Given the description of an element on the screen output the (x, y) to click on. 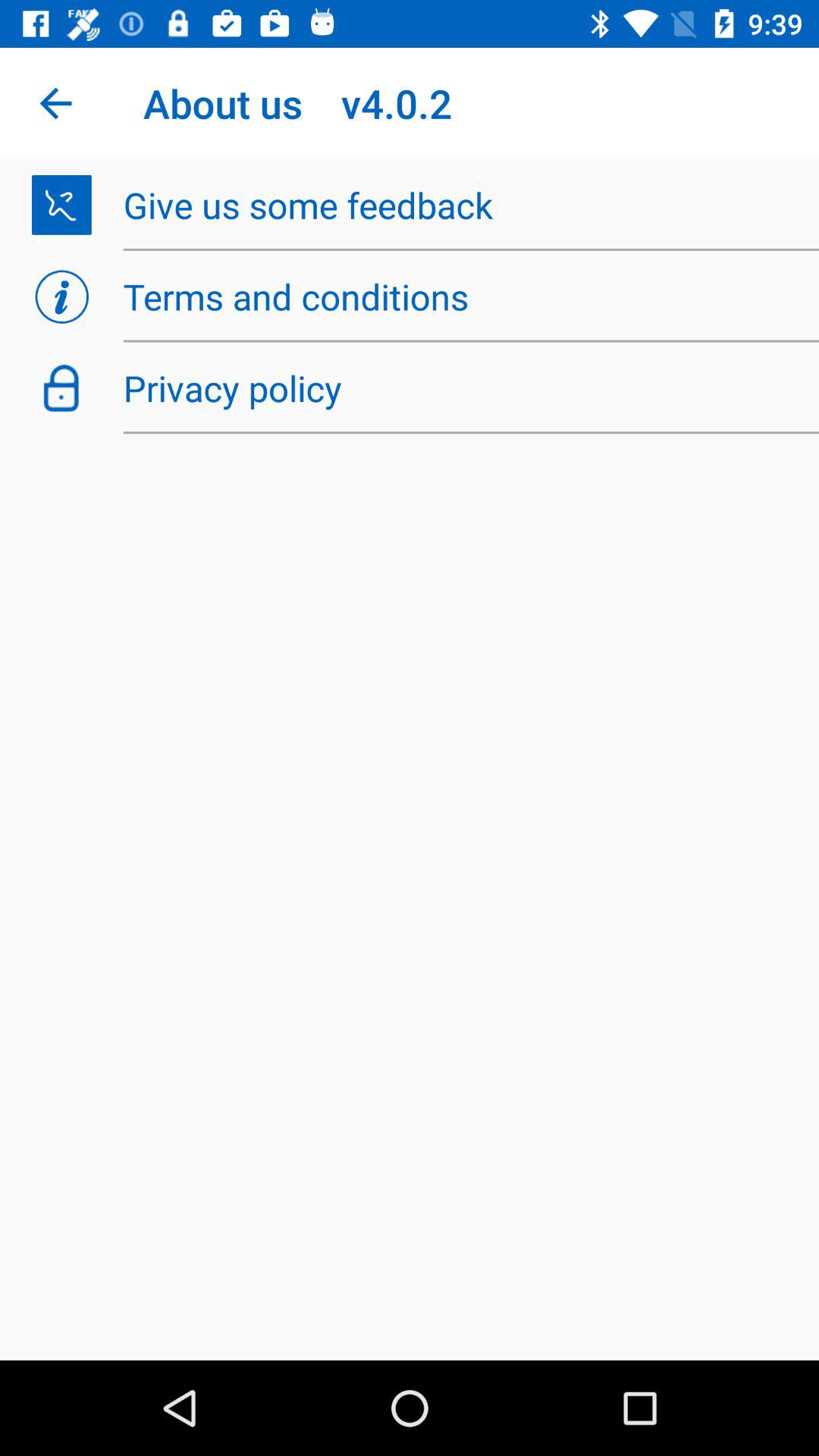
turn off the terms and conditions icon (463, 296)
